Given the description of an element on the screen output the (x, y) to click on. 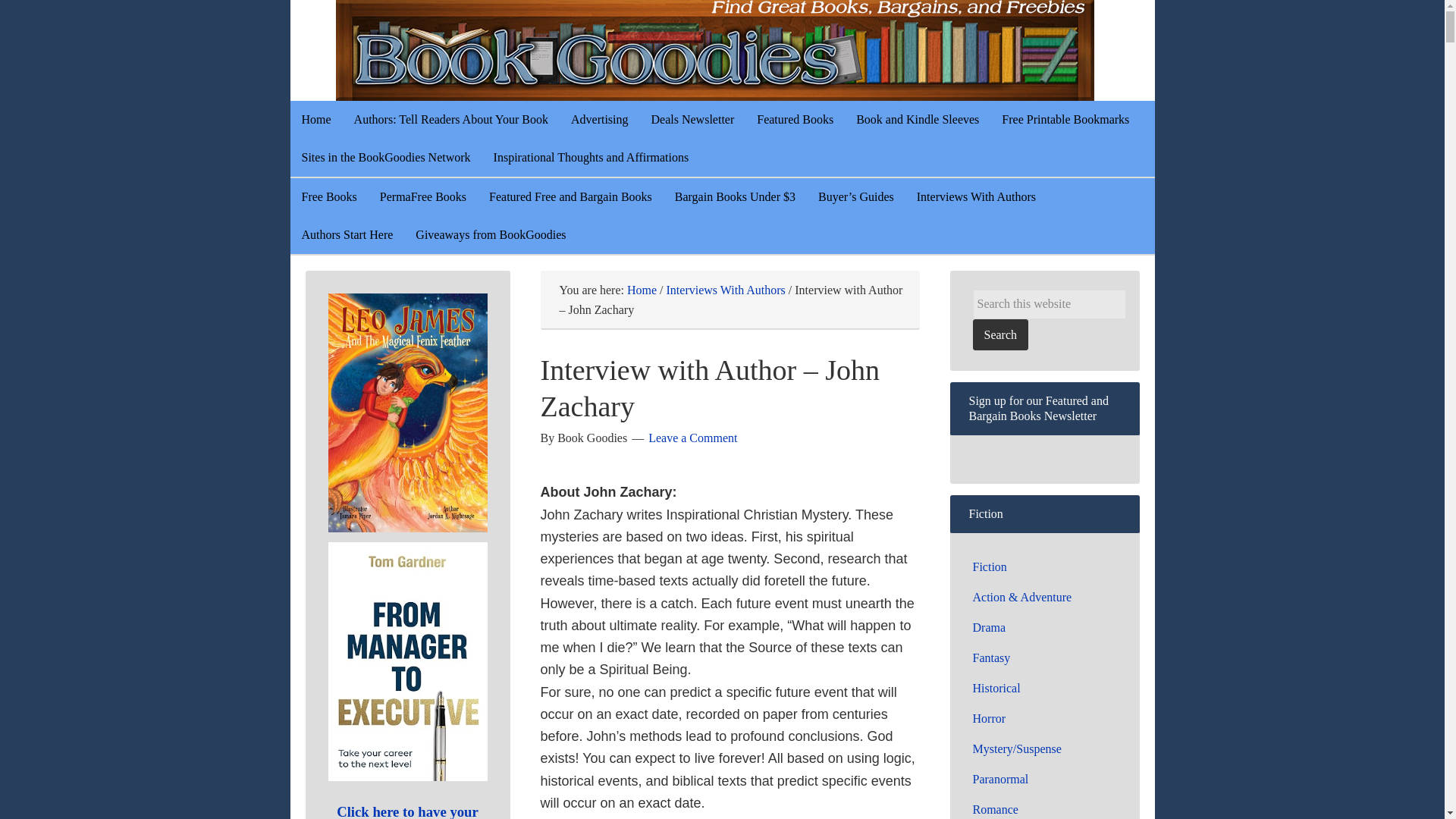
Leave a Comment (691, 437)
PermaFree Books (422, 197)
Book and Kindle Sleeves (917, 119)
Home (315, 119)
Interviews With Authors (975, 197)
Search (999, 334)
Advertising (599, 119)
Giveaways from BookGoodies (490, 234)
Book Goodies (751, 50)
Free Books (328, 197)
Featured Books (794, 119)
Home (641, 289)
Interviews With Authors (726, 289)
Inspirational Thoughts and Affirmations (590, 157)
Sites in the BookGoodies Network (385, 157)
